Given the description of an element on the screen output the (x, y) to click on. 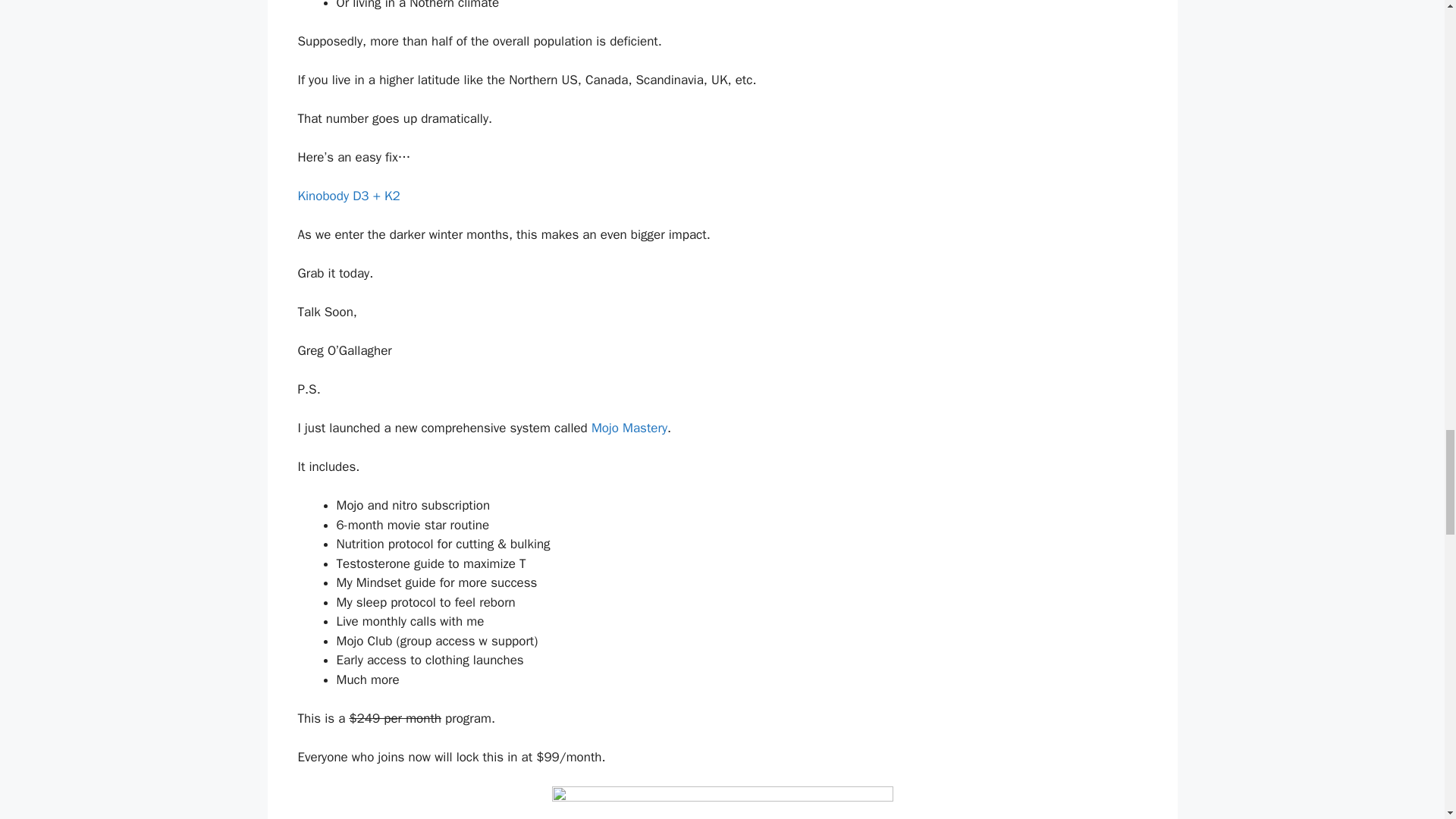
Mojo Mastery (628, 427)
